Given the description of an element on the screen output the (x, y) to click on. 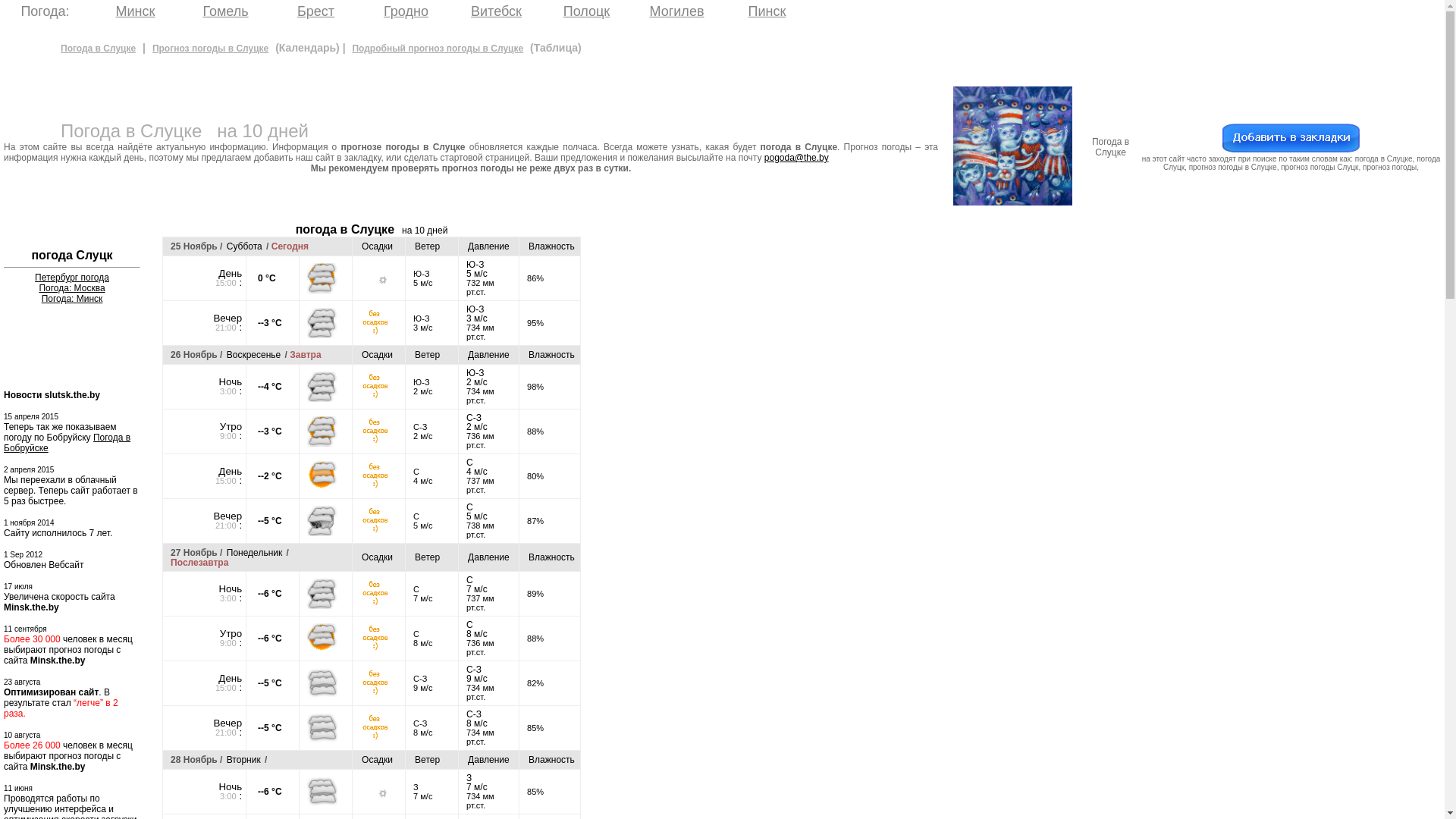
pogoda@the.by Element type: text (796, 157)
